Given the description of an element on the screen output the (x, y) to click on. 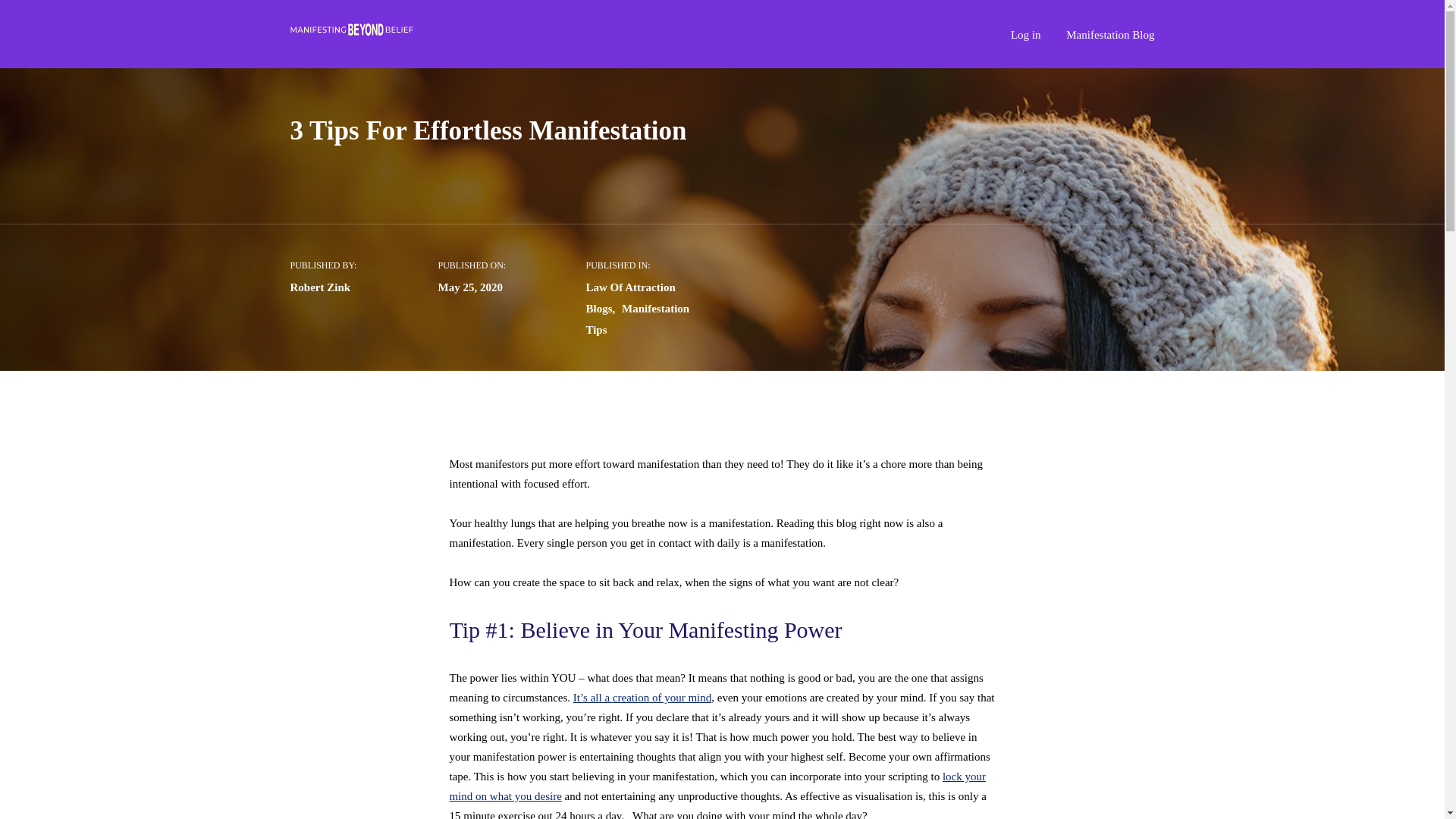
Robert Zink (319, 287)
Manifestation Blog (1109, 36)
Manifestation Tips (636, 318)
Log in (1025, 36)
Law Of Attraction Blogs (630, 297)
May 25, 2020 (470, 287)
lock your mind on what you desire (716, 786)
